Given the description of an element on the screen output the (x, y) to click on. 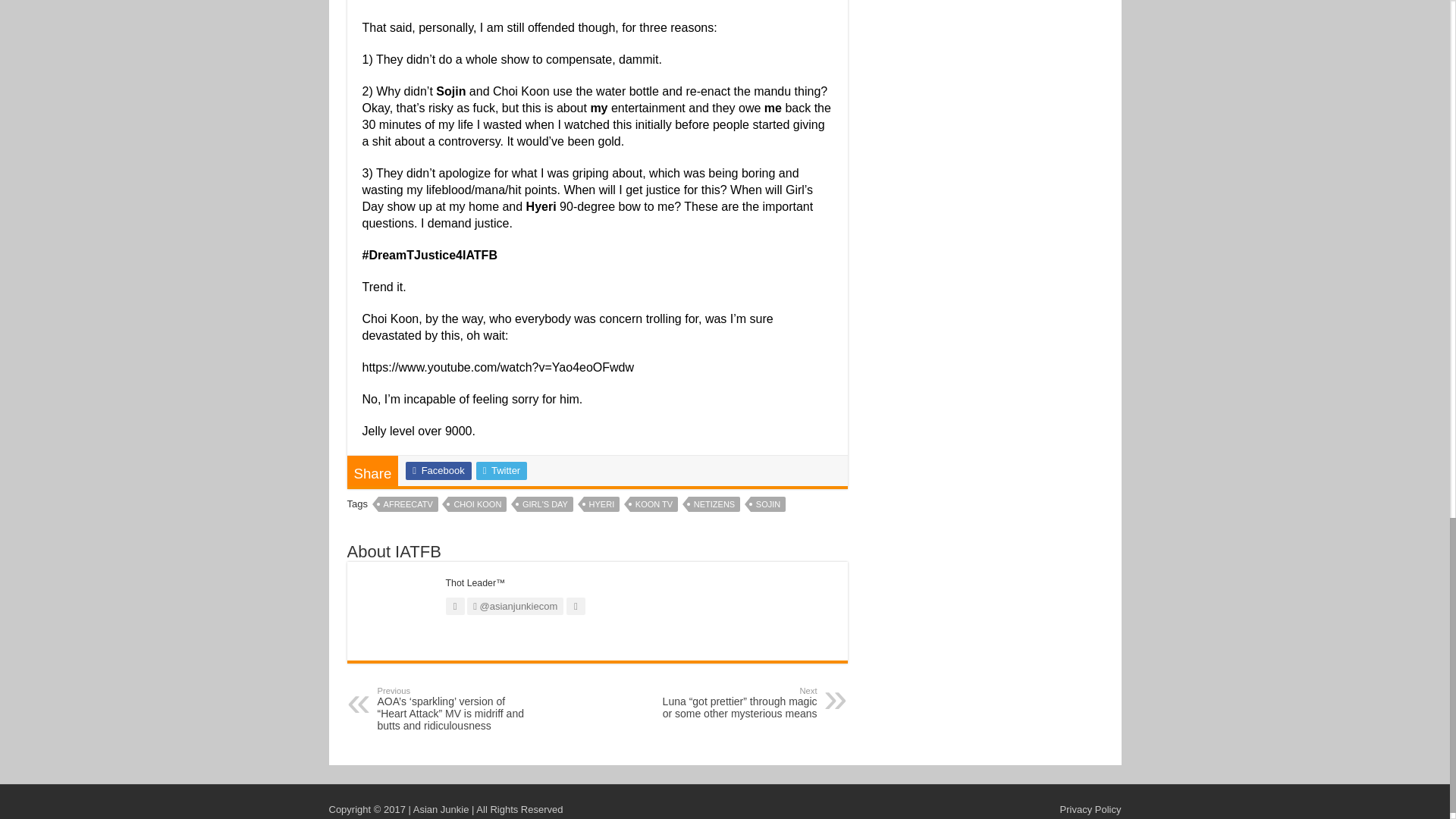
GIRL'S DAY (544, 503)
Facebook (438, 470)
AFREECATV (408, 503)
CHOI KOON (477, 503)
Twitter (501, 470)
